Given the description of an element on the screen output the (x, y) to click on. 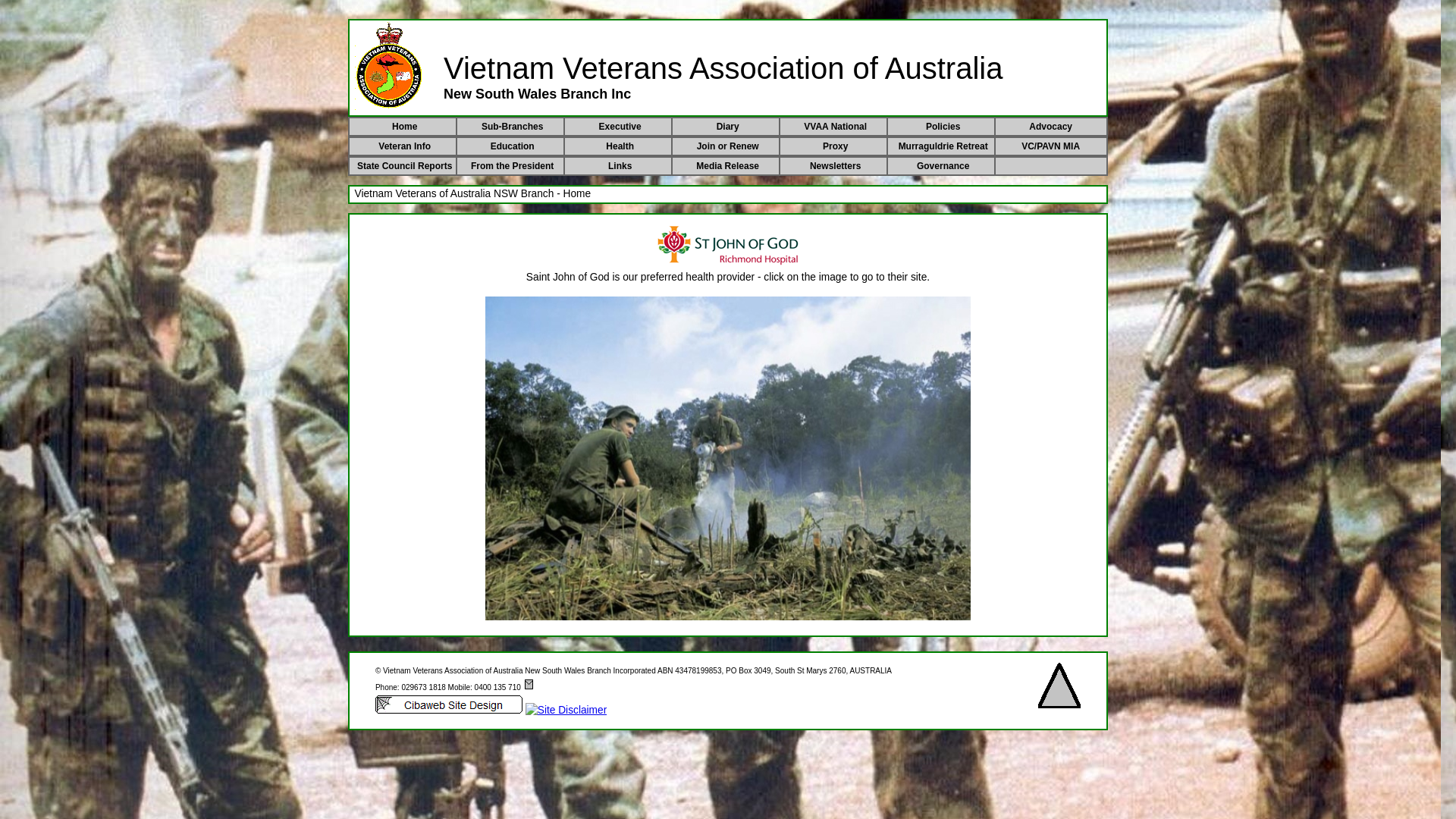
website designed and maintained by cibaweb Element type: hover (448, 704)
Education Element type: text (512, 146)
Home Element type: text (404, 126)
Advocacy Element type: text (1050, 126)
VC/PAVN MIA Element type: text (1050, 146)
Governance Element type: text (943, 165)
VVAA National Element type: text (835, 126)
Links Element type: text (620, 165)
Executive Element type: text (620, 126)
  Element type: text (1050, 165)
Policies Element type: text (943, 126)
Sub-Branches Element type: text (512, 126)
Proxy Element type: text (835, 146)
Veteran Info Element type: text (404, 146)
Join or Renew Element type: text (727, 146)
Murraguldrie Retreat Element type: text (943, 146)
Health Element type: text (620, 146)
State Council Reports Element type: text (404, 165)
Newsletters Element type: text (835, 165)
Home Element type: hover (388, 64)
Go to TOP of Page Element type: hover (1059, 685)
Media Release Element type: text (727, 165)
Diary Element type: text (727, 126)
From the President Element type: text (512, 165)
In Vietnam 1969 Element type: hover (727, 458)
